Given the description of an element on the screen output the (x, y) to click on. 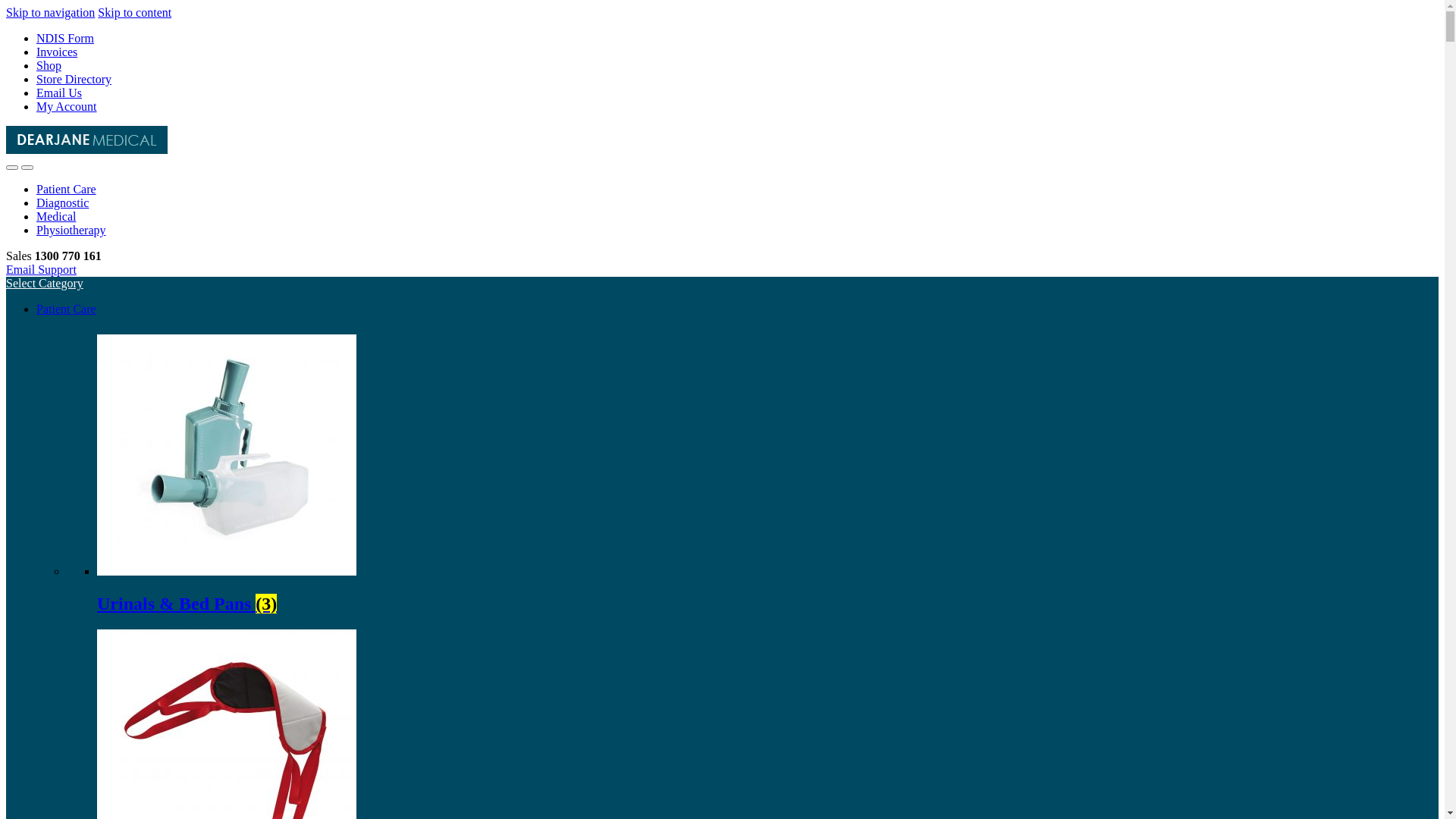
Select Category Element type: text (44, 282)
Diagnostic Element type: text (62, 202)
Shop Element type: text (48, 65)
Store Directory Element type: text (73, 78)
NDIS Form Element type: text (65, 37)
Invoices Element type: text (56, 51)
Physiotherapy Element type: text (71, 229)
Medical Element type: text (55, 216)
Email Support Element type: text (41, 269)
Patient Care Element type: text (66, 308)
Skip to content Element type: text (134, 12)
Email Us Element type: text (58, 92)
My Account Element type: text (66, 106)
Urinals & Bed Pans (3) Element type: text (767, 589)
Patient Care Element type: text (66, 188)
Skip to navigation Element type: text (50, 12)
